Given the description of an element on the screen output the (x, y) to click on. 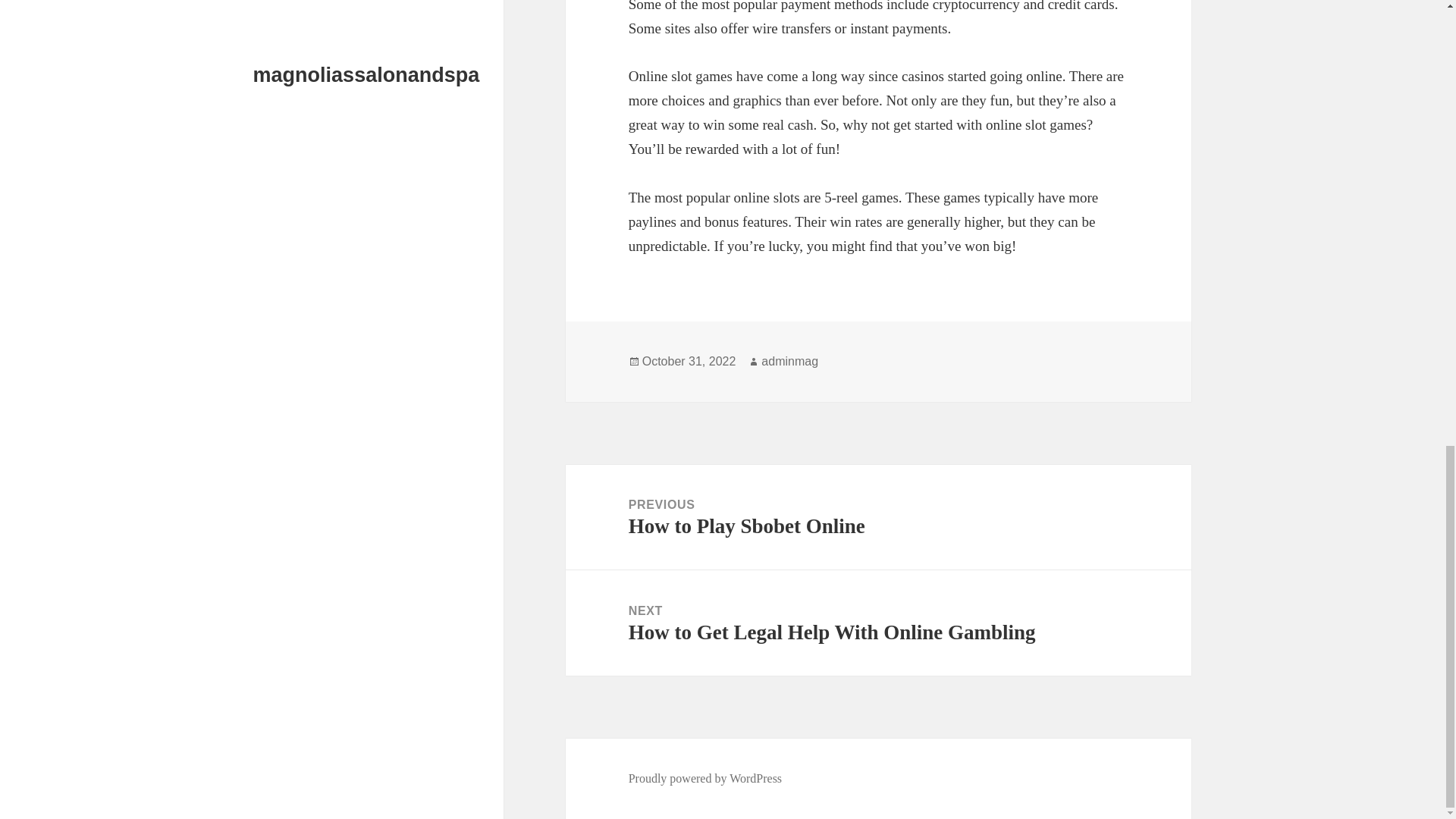
Proudly powered by WordPress (878, 517)
adminmag (878, 622)
October 31, 2022 (704, 778)
